Given the description of an element on the screen output the (x, y) to click on. 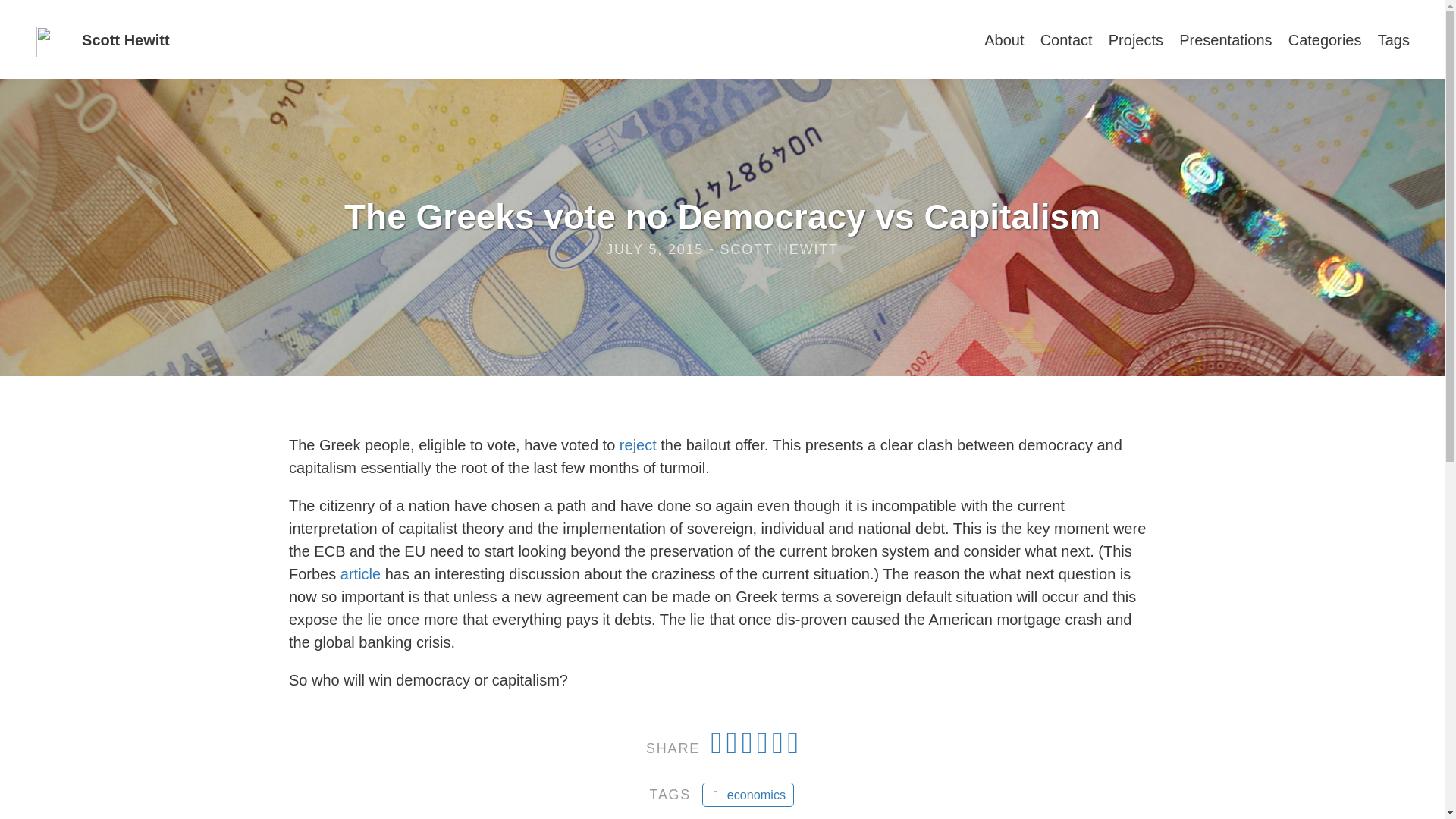
Share on Reddit (764, 747)
Projects (1135, 42)
reject (638, 444)
Tags (1393, 42)
Share on Facebook (718, 747)
Scott Hewitt (125, 39)
Tweet (733, 747)
Contact (1067, 42)
Tweet (733, 747)
Share on LinkedIn (779, 747)
Share on LinkedIn (779, 747)
Share on Reddit (764, 747)
Presentations (1225, 42)
About (1003, 42)
Share on Facebook (718, 747)
